Given the description of an element on the screen output the (x, y) to click on. 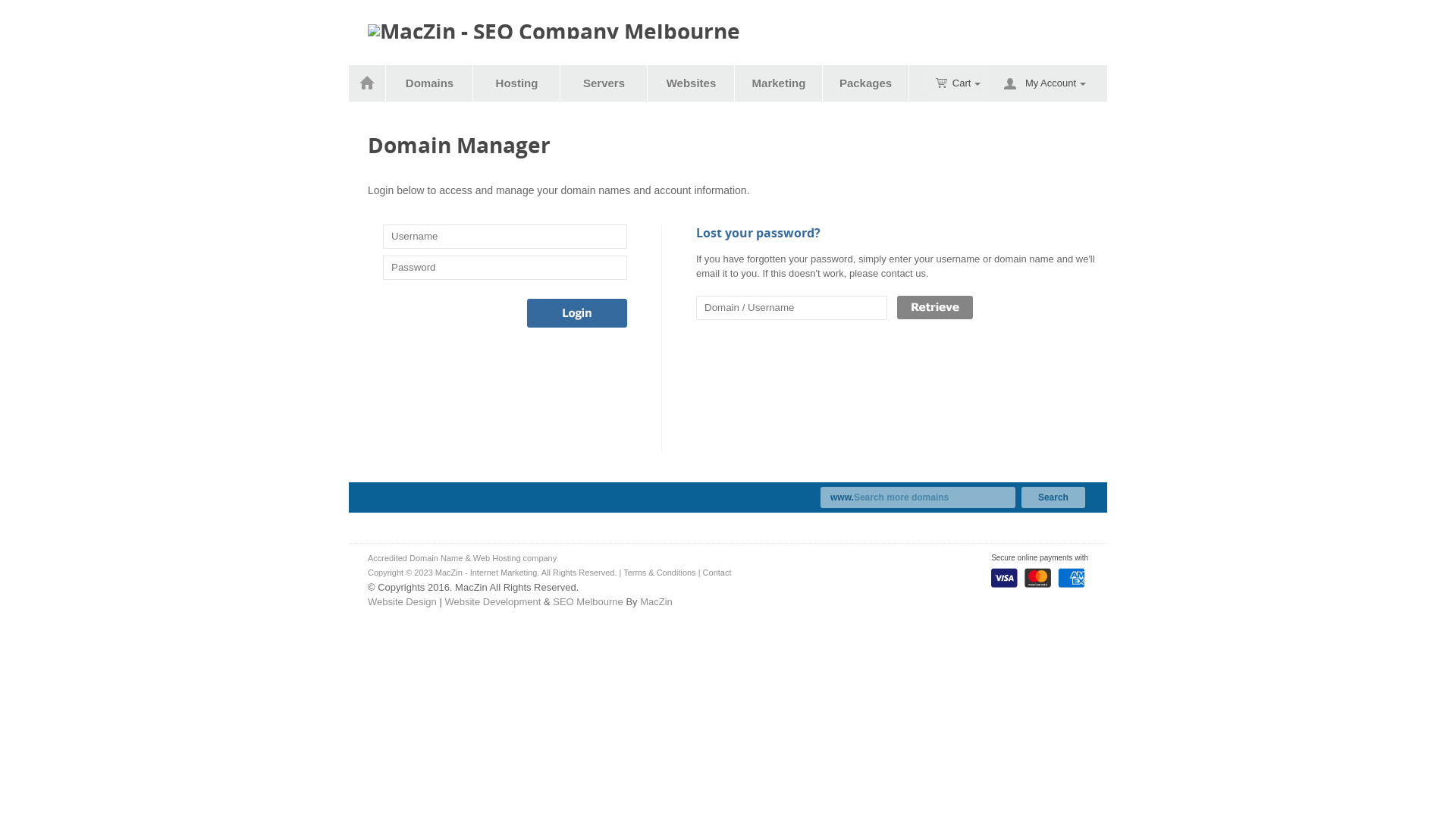
Search Element type: text (1053, 497)
Retreive Element type: text (934, 307)
Website Design Element type: text (401, 601)
Servers Element type: text (604, 83)
Websites Element type: text (691, 83)
Website Development Element type: text (492, 601)
Buy Domain Name And Hosting Element type: hover (553, 31)
Login Element type: text (577, 312)
SEO Melbourne Element type: text (587, 601)
Domains Element type: text (429, 83)
Contact Element type: text (716, 572)
Marketing Element type: text (778, 83)
Cart Element type: text (957, 82)
MacZin Element type: text (656, 601)
Home Element type: text (366, 83)
Terms & Conditions Element type: text (659, 572)
My Account Element type: text (1055, 83)
Hosting Element type: text (516, 83)
Packages Element type: text (865, 83)
